Given the description of an element on the screen output the (x, y) to click on. 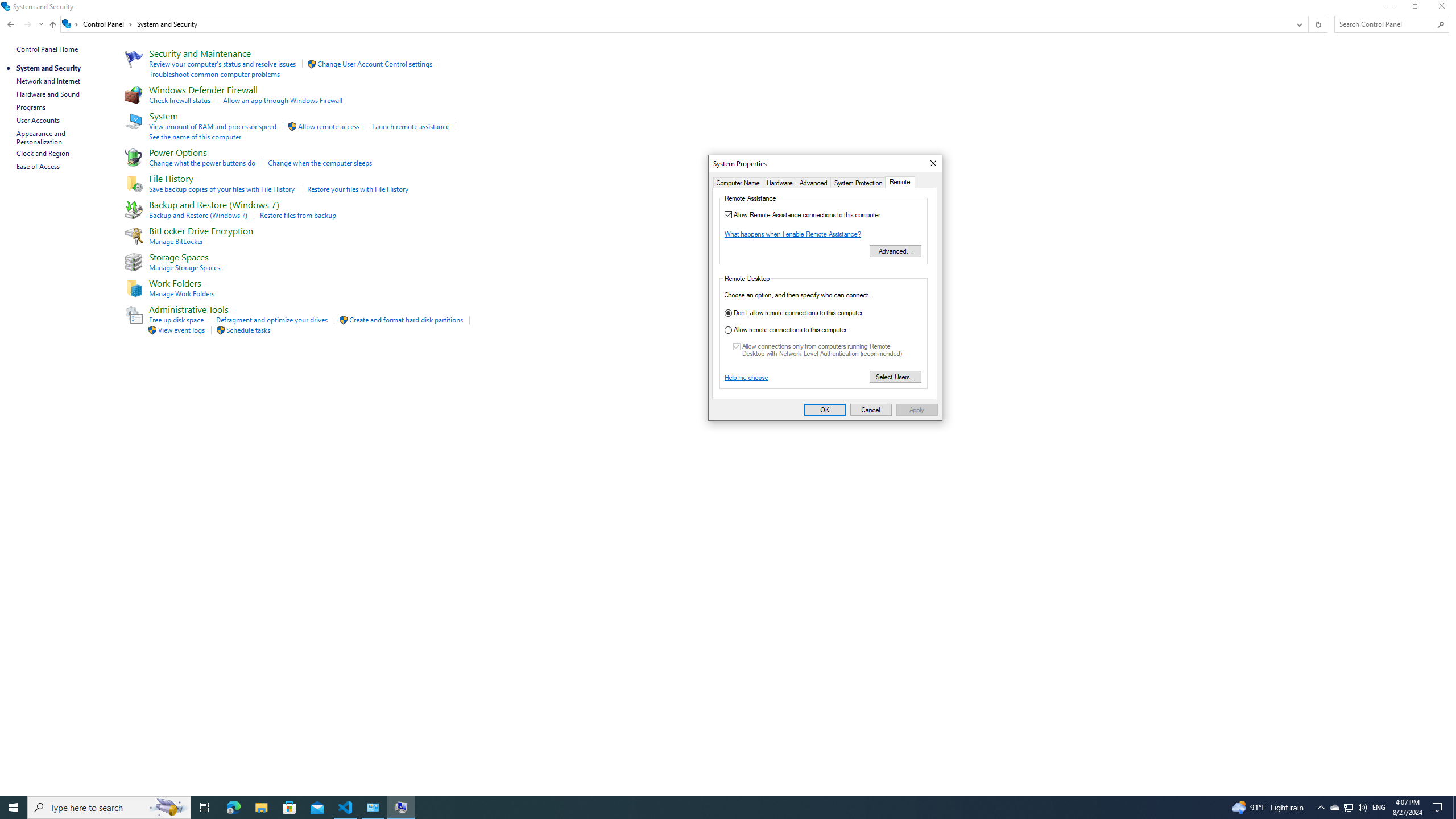
Advanced... (895, 250)
Control Panel - 1 running window (373, 807)
Running applications (706, 807)
Computer Name (737, 182)
System Protection (858, 182)
Cancel (871, 409)
